Given the description of an element on the screen output the (x, y) to click on. 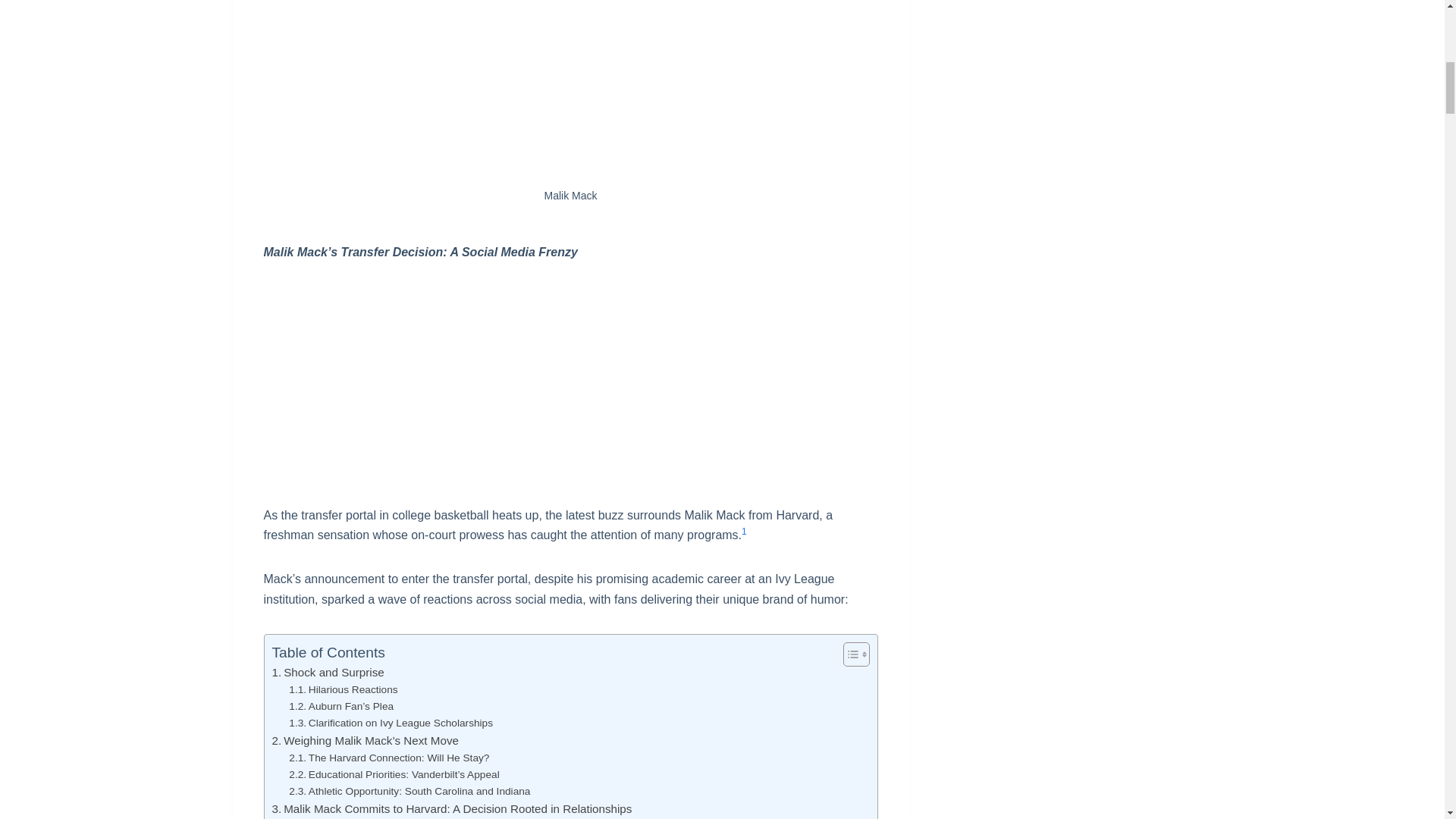
Shock and Surprise (327, 672)
The Harvard Connection: Will He Stay? (388, 758)
Hilarious Reactions (342, 689)
Clarification on Ivy League Scholarships (390, 723)
Shock and Surprise (327, 672)
Hilarious Reactions (342, 689)
Athletic Opportunity: South Carolina and Indiana (408, 791)
